Given the description of an element on the screen output the (x, y) to click on. 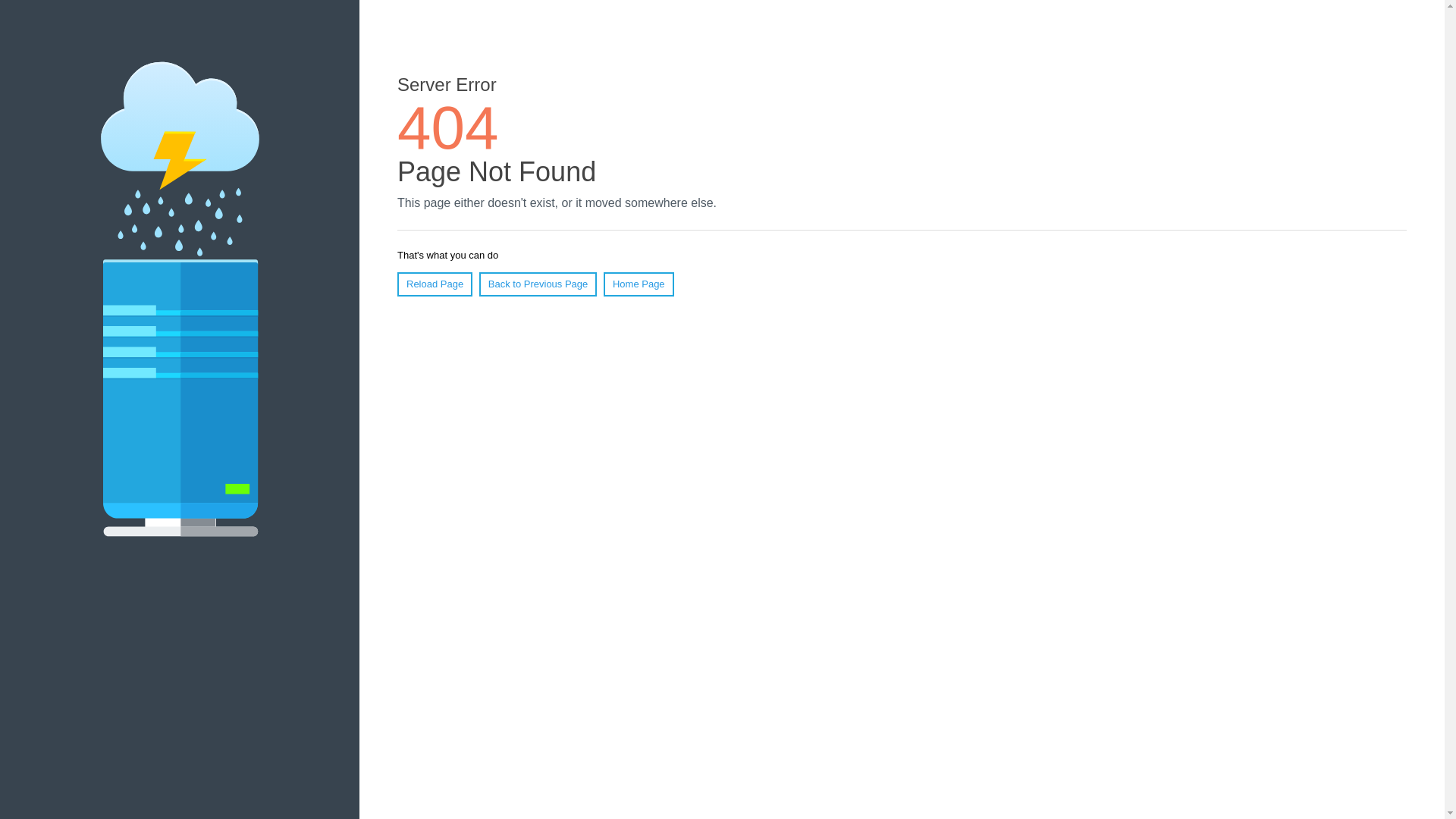
Home Page Element type: text (638, 284)
Reload Page Element type: text (434, 284)
Back to Previous Page Element type: text (538, 284)
